Given the description of an element on the screen output the (x, y) to click on. 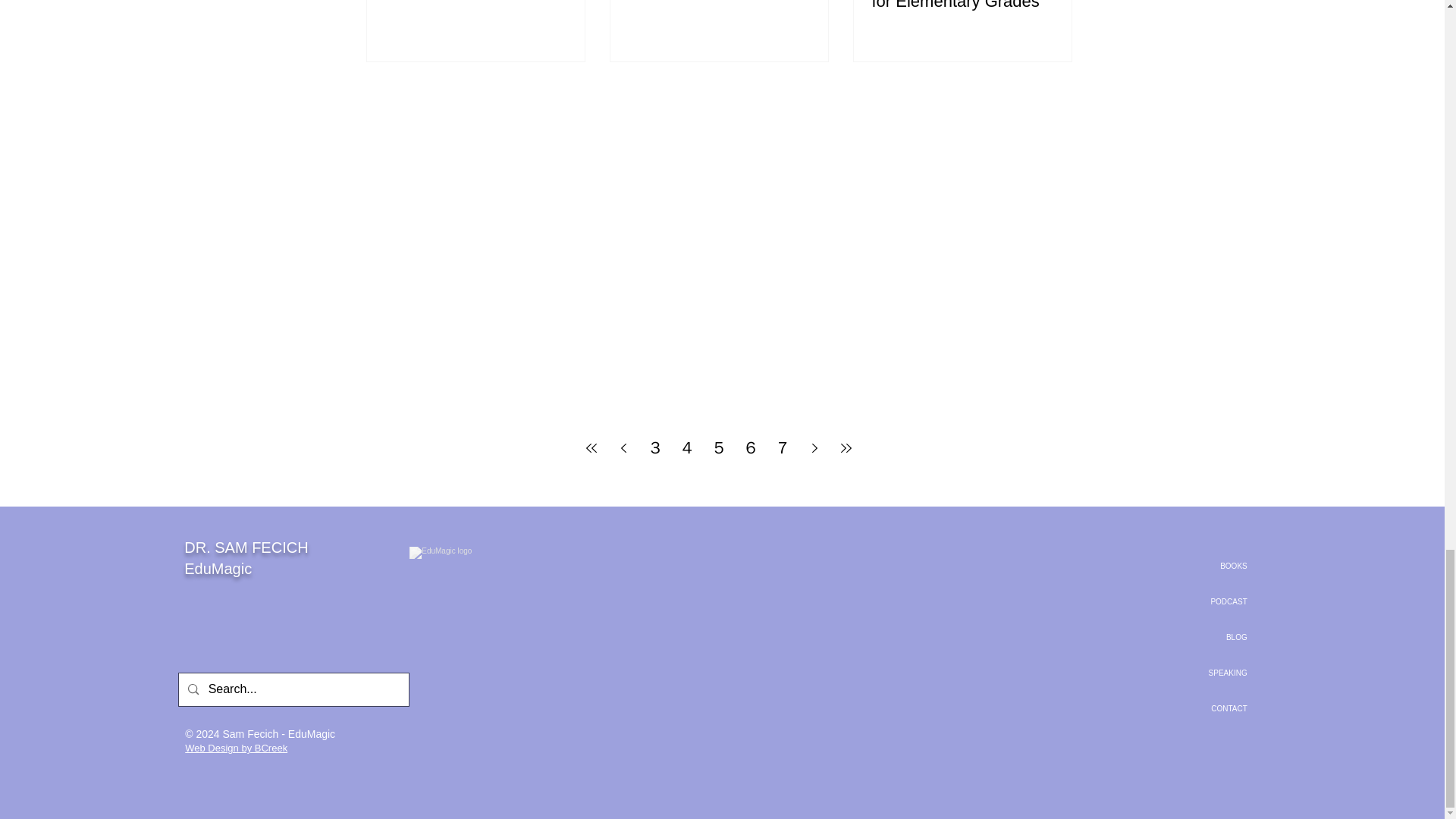
4 (686, 447)
6 (750, 447)
3 (655, 447)
Easy Classroom Management Strategies for Elementary Grades (962, 6)
